Given the description of an element on the screen output the (x, y) to click on. 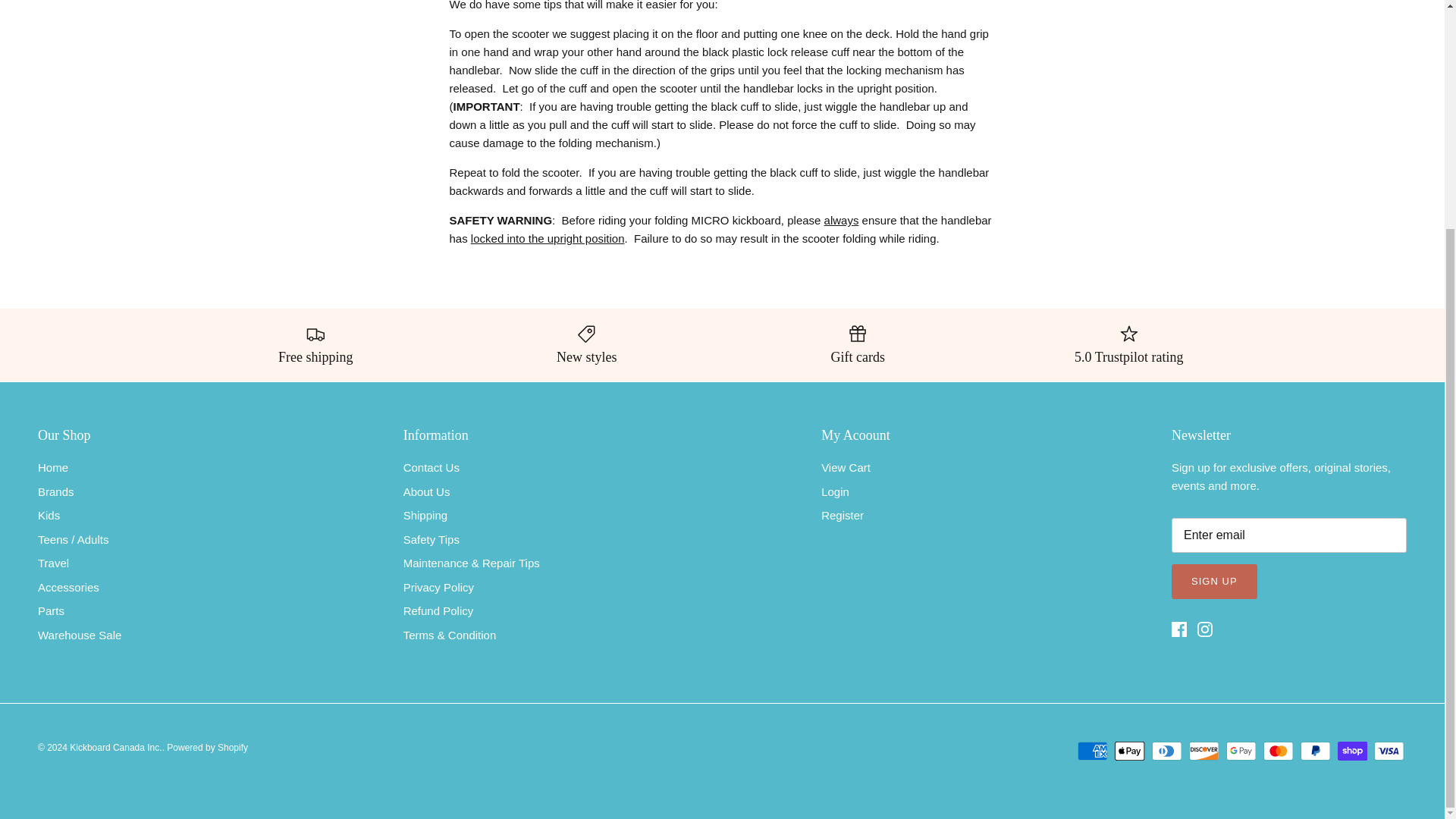
American Express (1092, 751)
Visa (1388, 751)
Diners Club (1166, 751)
PayPal (1315, 751)
Discover (1203, 751)
Shop Pay (1352, 751)
Google Pay (1240, 751)
Instagram (1204, 629)
Mastercard (1277, 751)
Apple Pay (1129, 751)
